Given the description of an element on the screen output the (x, y) to click on. 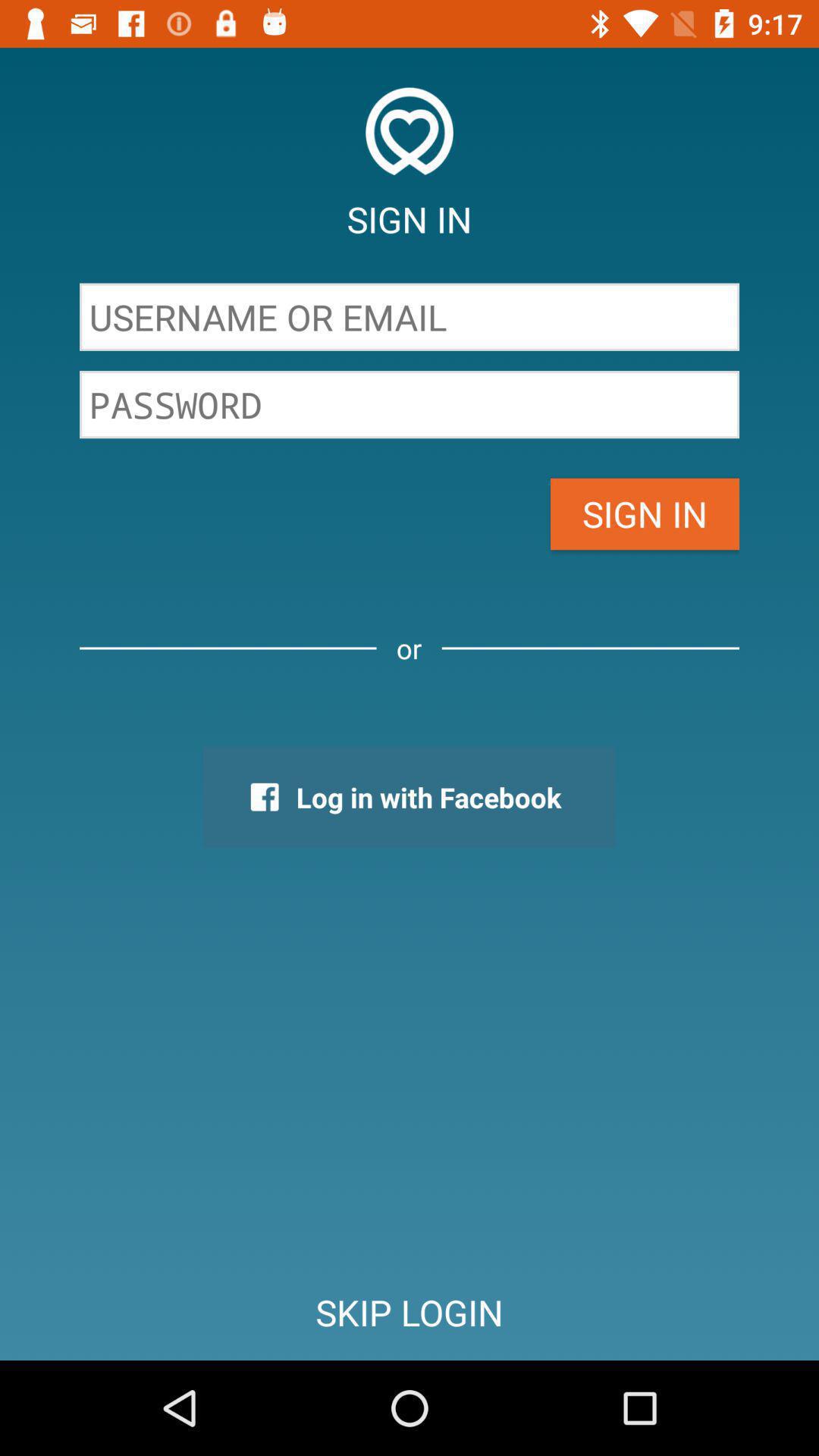
select log in with (409, 797)
